Given the description of an element on the screen output the (x, y) to click on. 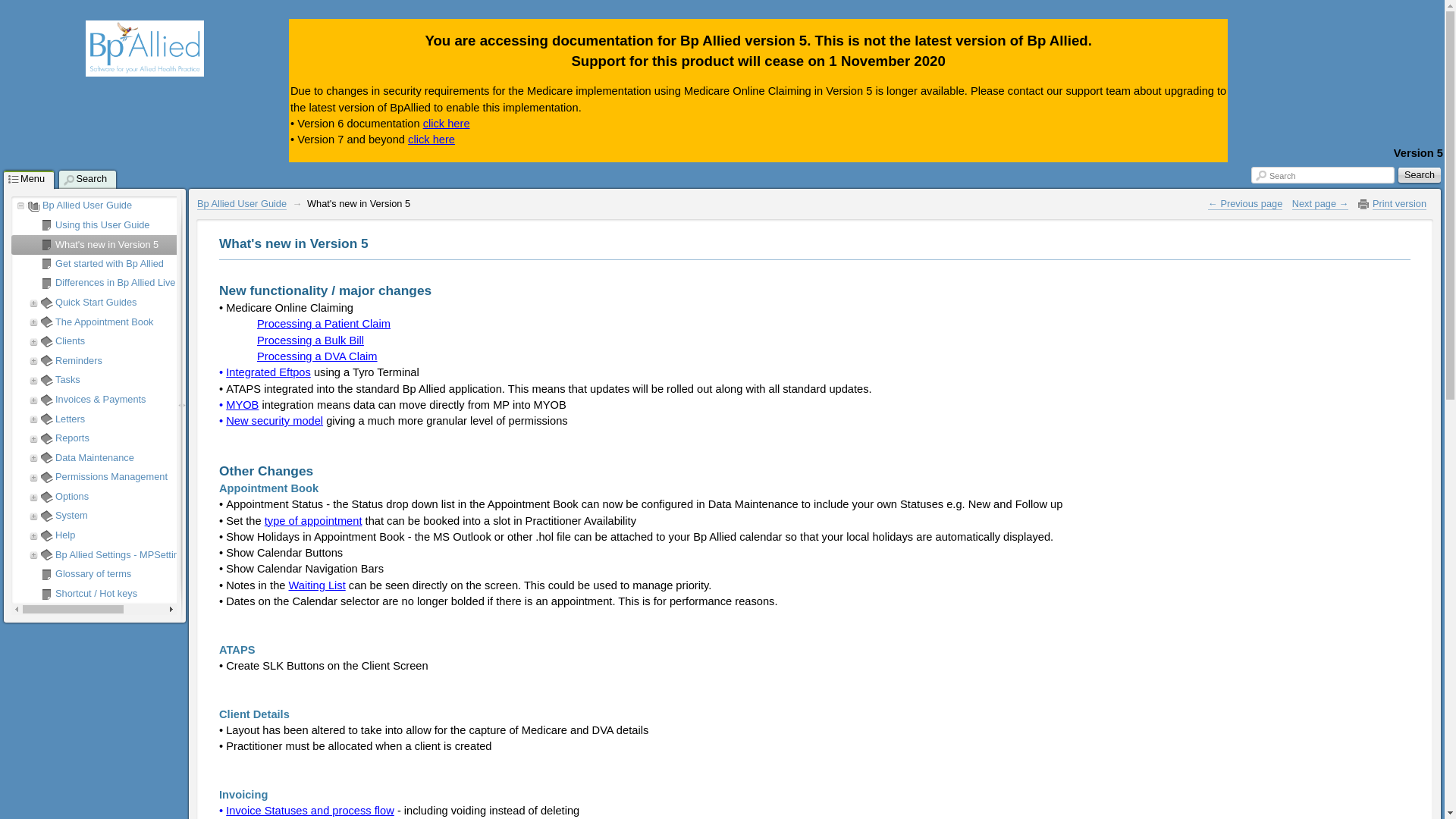
Reports Element type: text (169, 437)
Print version Element type: text (1399, 203)
Using this User Guide Element type: text (169, 224)
type of appointment Element type: text (313, 520)
Shortcut / Hot keys Element type: text (169, 593)
Quick Start Guides Element type: text (169, 302)
Reminders Element type: text (169, 360)
New security model Element type: text (274, 420)
MYOB Element type: text (241, 404)
Invoices & Payments Element type: text (169, 399)
System Element type: text (169, 515)
Next page  Element type: text (1320, 203)
Help Element type: text (169, 535)
Permissions Management Element type: text (169, 476)
Glossary of terms Element type: text (169, 573)
Bp Allied Settings - MPSettings.exe Element type: text (169, 554)
Integrated Eftpos Element type: text (267, 372)
Clients Element type: text (169, 340)
Bp Allied User Guide Element type: text (241, 203)
click here Element type: text (446, 123)
Processing a Patient Claim Element type: text (323, 323)
Options Element type: text (169, 496)
Bp Allied User Guide Element type: text (156, 205)
Waiting List Element type: text (316, 585)
Invoice Statuses and process flow Element type: text (309, 810)
click here Element type: text (431, 139)
 Previous page Element type: text (1245, 203)
Data Maintenance Element type: text (169, 457)
The Appointment Book Element type: text (169, 321)
Processing a DVA Claim Element type: text (317, 356)
Tasks Element type: text (169, 379)
Letters Element type: text (169, 419)
Get started with Bp Allied Element type: text (169, 263)
Processing a Bulk Bill Element type: text (310, 340)
Differences in Bp Allied Live - Fully Hosted Element type: text (169, 282)
